Given the description of an element on the screen output the (x, y) to click on. 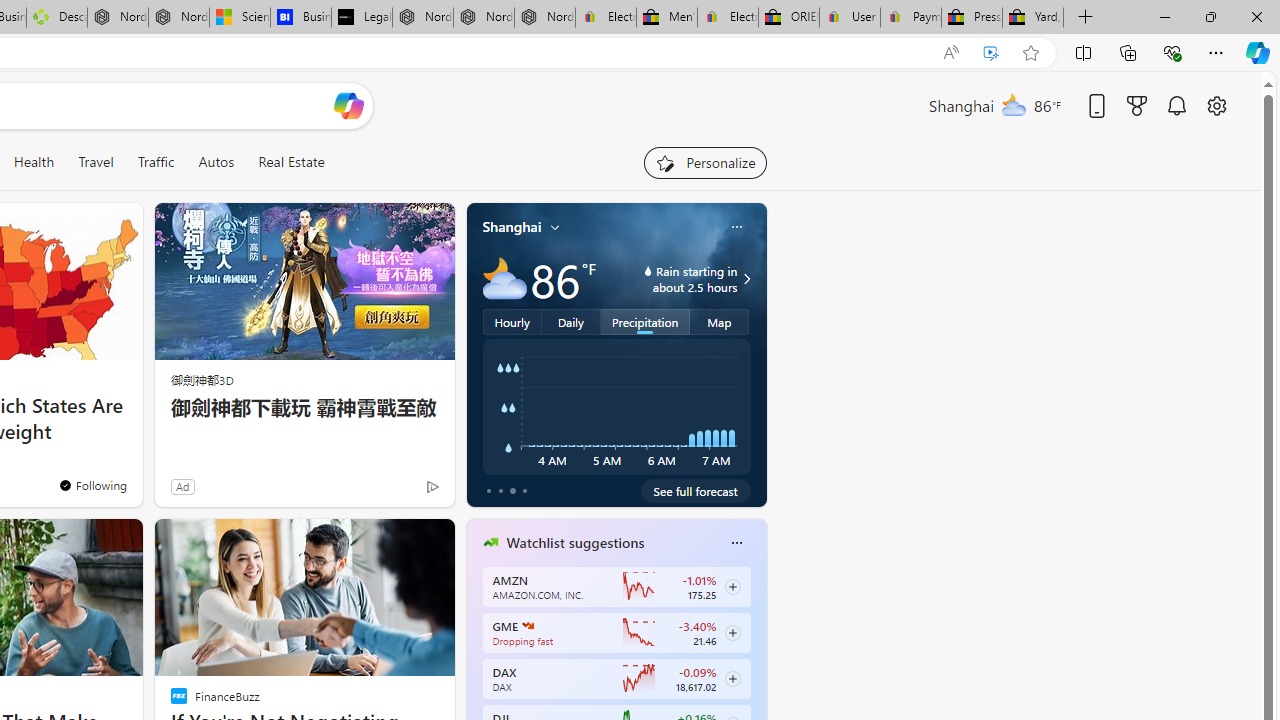
Mostly cloudy (504, 278)
Shanghai (511, 227)
Enhance video (991, 53)
Map (719, 321)
Hide this story (393, 542)
